Given the description of an element on the screen output the (x, y) to click on. 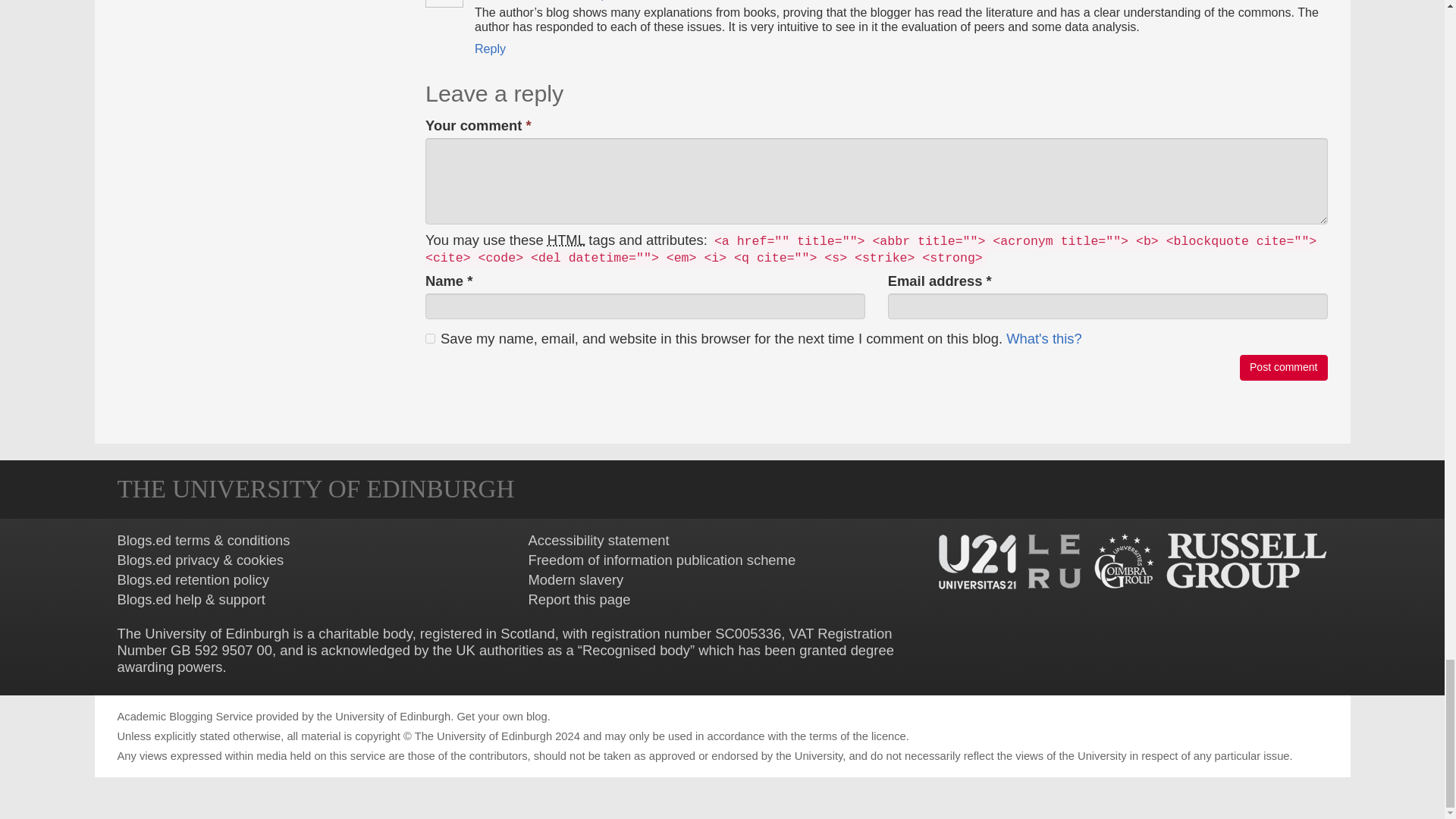
Post comment (1283, 367)
yes (430, 338)
HyperText Markup Language (566, 239)
